Given the description of an element on the screen output the (x, y) to click on. 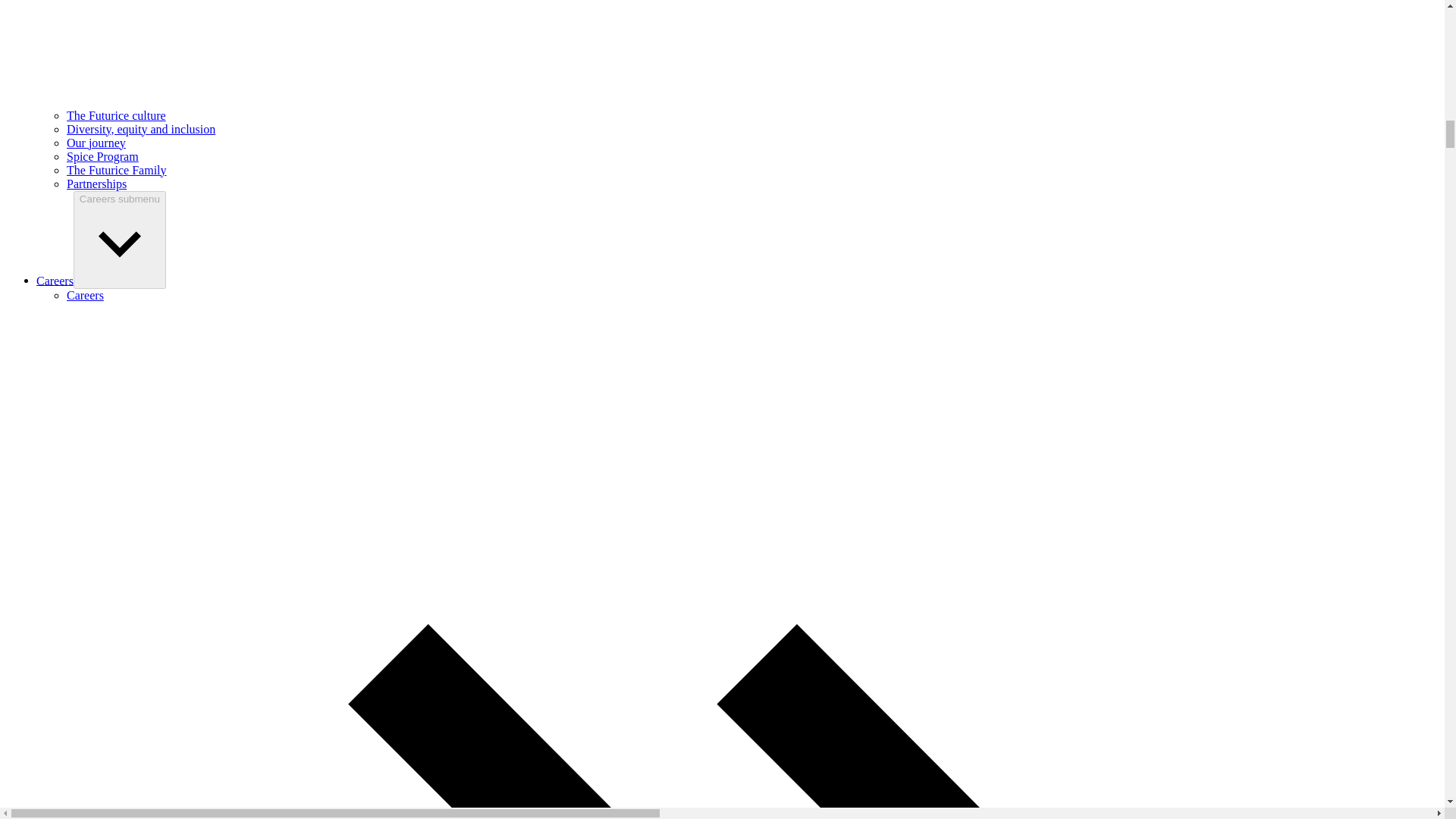
Diversity, equity and inclusion (140, 128)
Spice Program (102, 155)
The Futurice culture (115, 115)
Our journey (95, 142)
Careers (55, 279)
The Futurice Family (116, 169)
Careers submenu (119, 239)
Partnerships (96, 183)
